Given the description of an element on the screen output the (x, y) to click on. 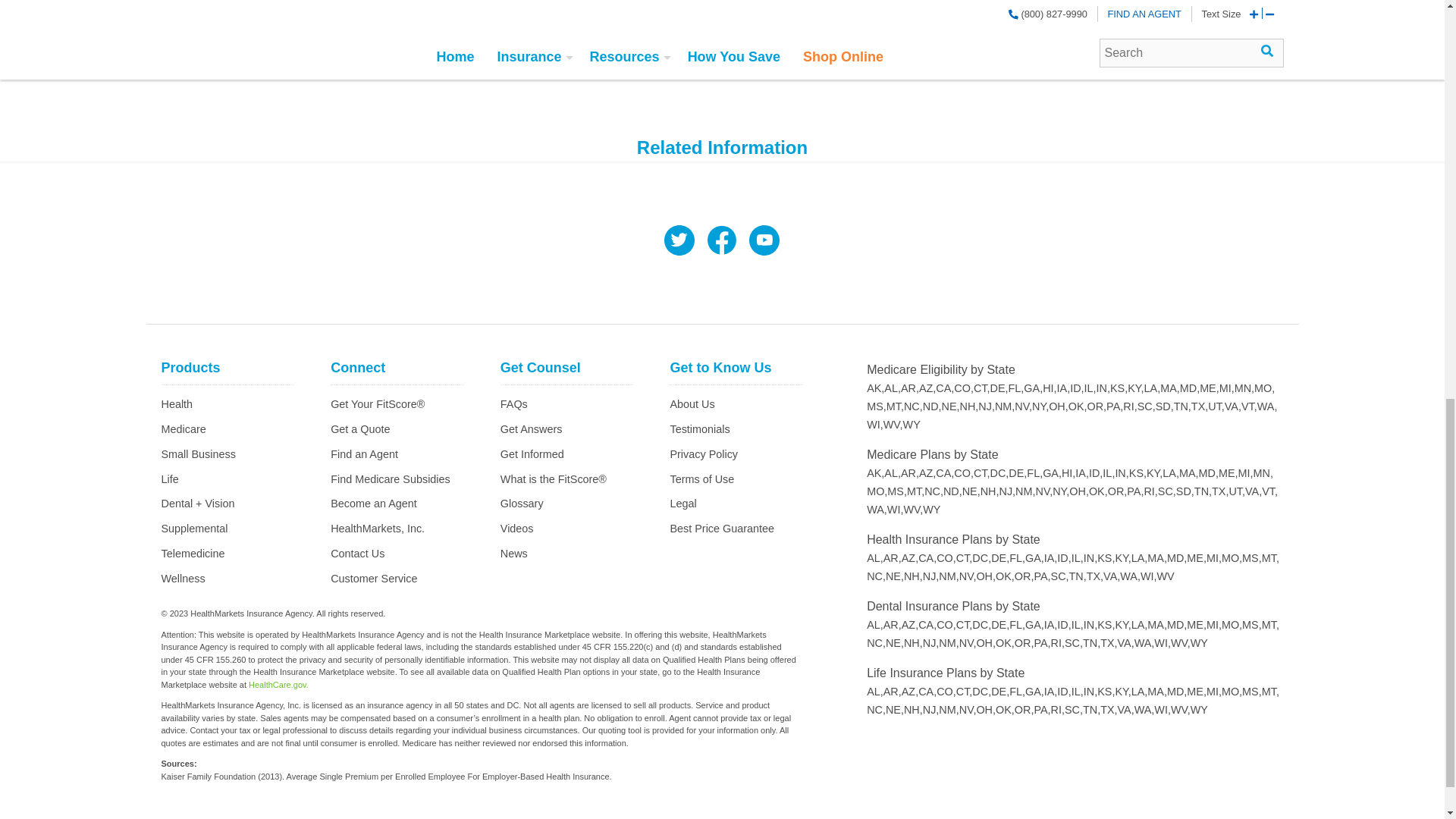
Medicare Eligibility in Iowa (1063, 387)
Medicare Eligibility in Kansas (1117, 387)
Medicare Eligibility in Delaware (999, 387)
Medicare Eligibility in Georgia (1032, 387)
Medicare Eligibility in Indiana (1102, 387)
Medicare Eligibility in Florida (1017, 387)
Medicare Eligibility in Hawaii (1049, 387)
Medicare Eligibility in Connecticut (982, 387)
Medicare Eligibility in Illinois (1090, 387)
Medicare Eligibility in California (944, 387)
